Given the description of an element on the screen output the (x, y) to click on. 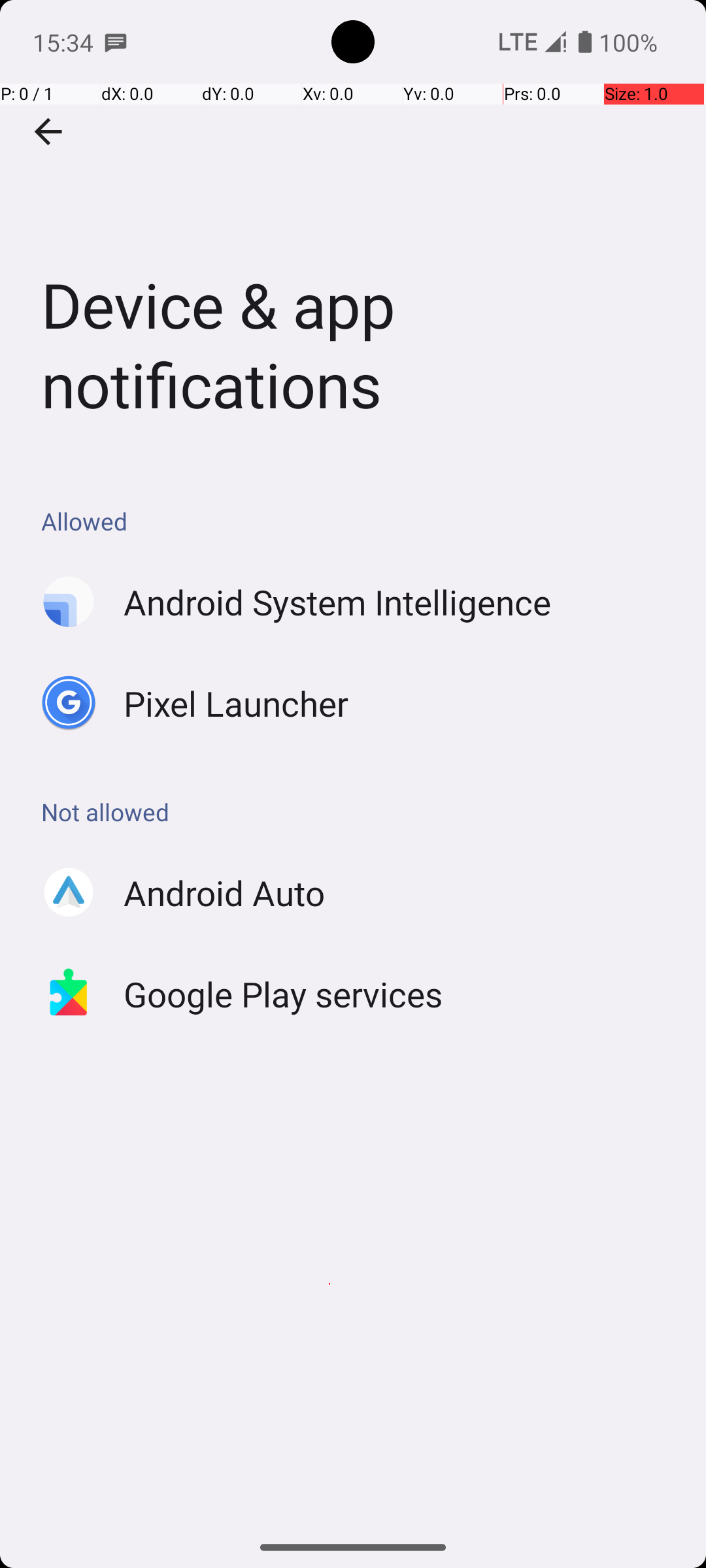
Allowed Element type: android.widget.TextView (359, 520)
Android System Intelligence Element type: android.widget.TextView (337, 601)
Pixel Launcher Element type: android.widget.TextView (236, 703)
Not allowed Element type: android.widget.TextView (359, 811)
Google Play services Element type: android.widget.TextView (283, 993)
